Given the description of an element on the screen output the (x, y) to click on. 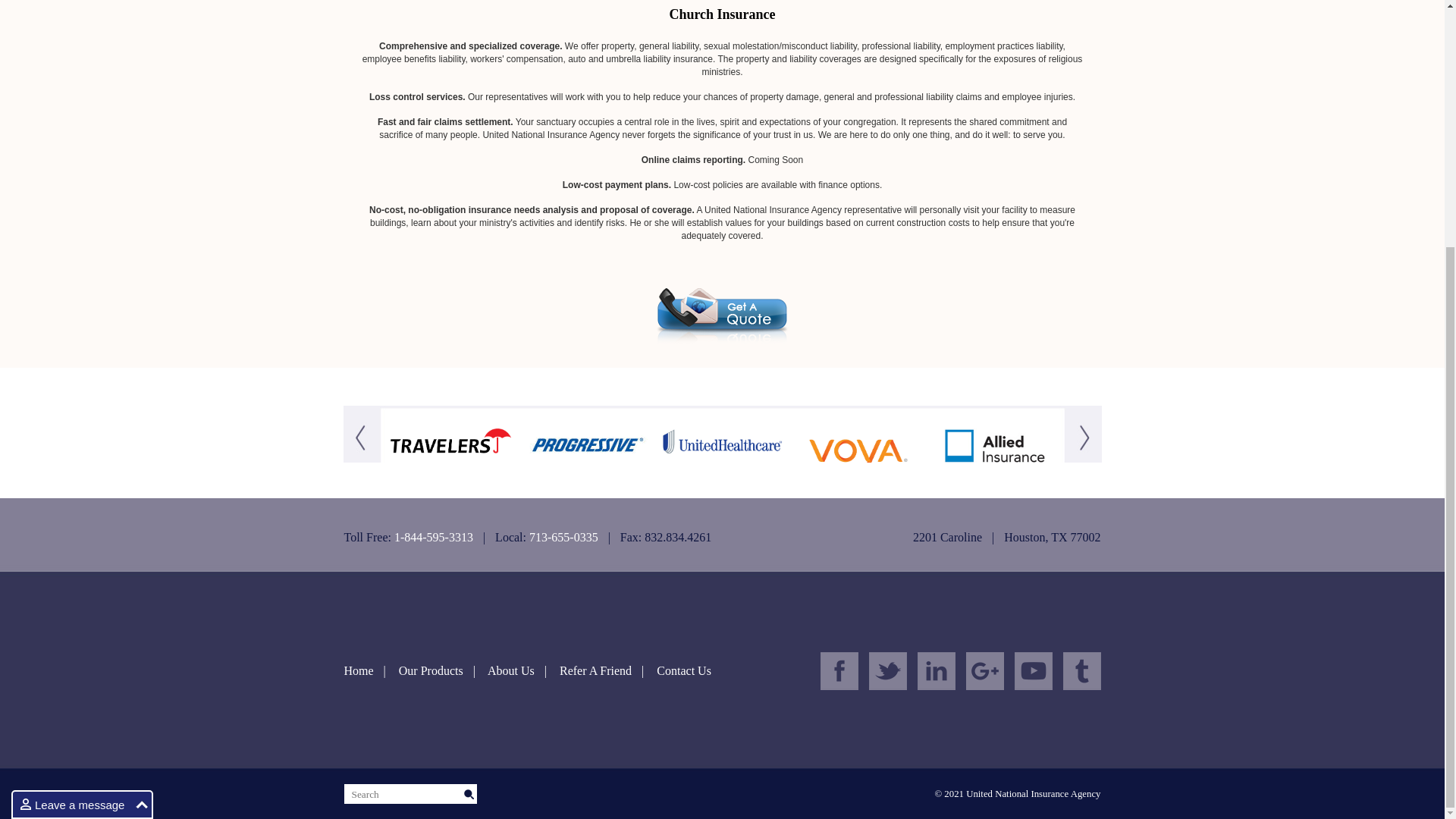
Maximize (141, 460)
